Given the description of an element on the screen output the (x, y) to click on. 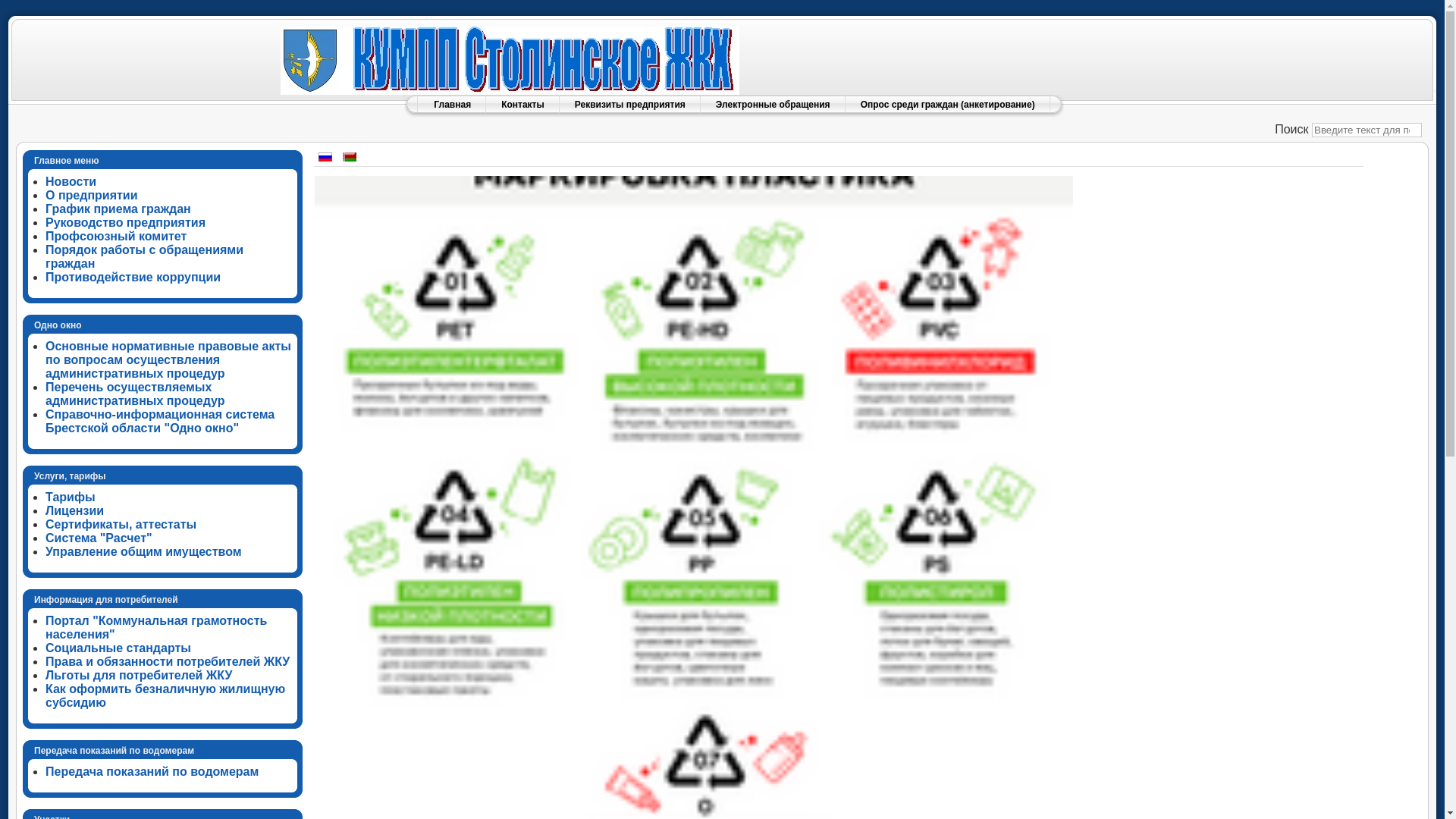
Belarusian (be-BY) Element type: hover (349, 156)
Russian (Russia) Element type: hover (325, 156)
